Given the description of an element on the screen output the (x, y) to click on. 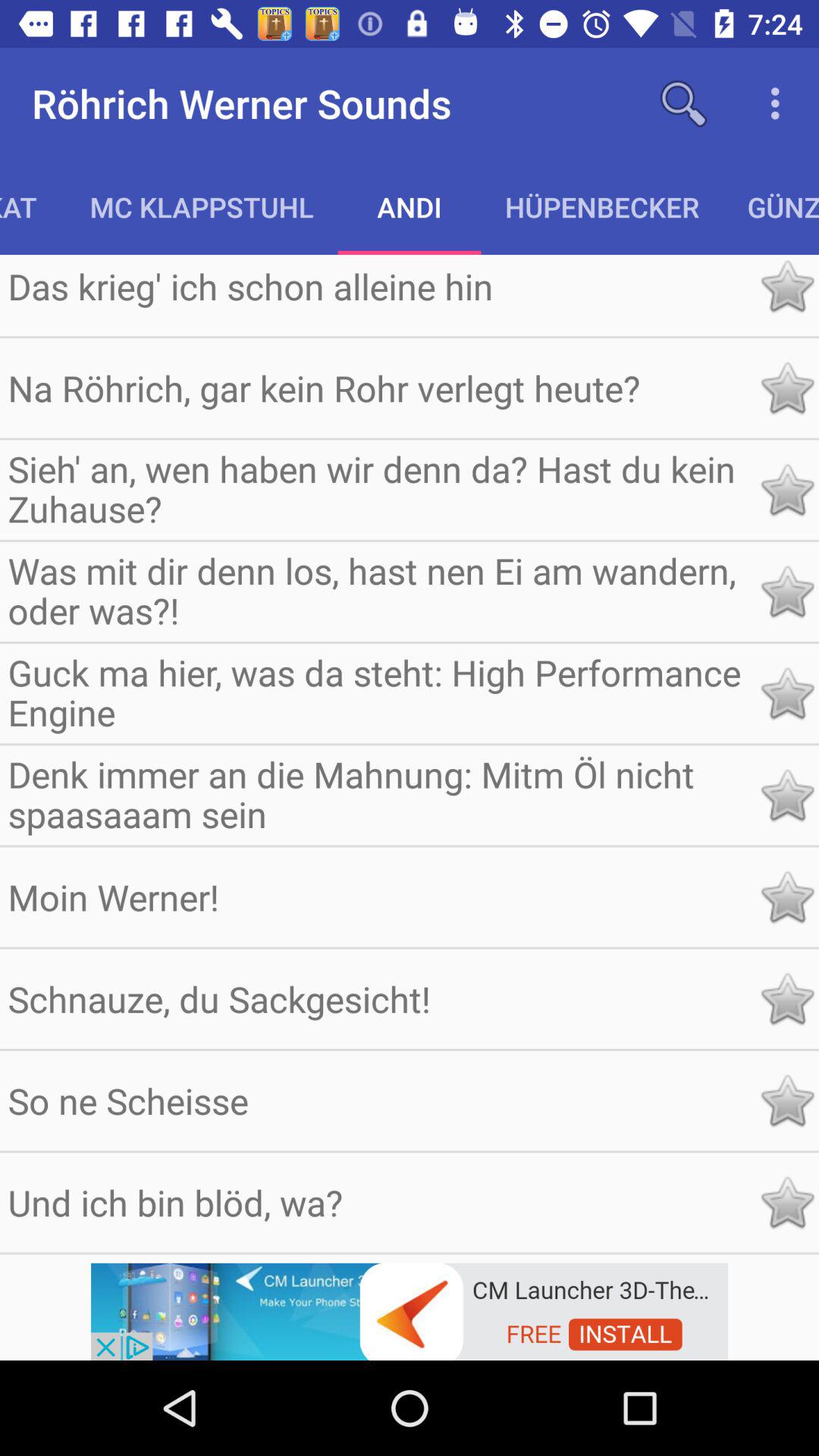
favorite this item (787, 1202)
